Given the description of an element on the screen output the (x, y) to click on. 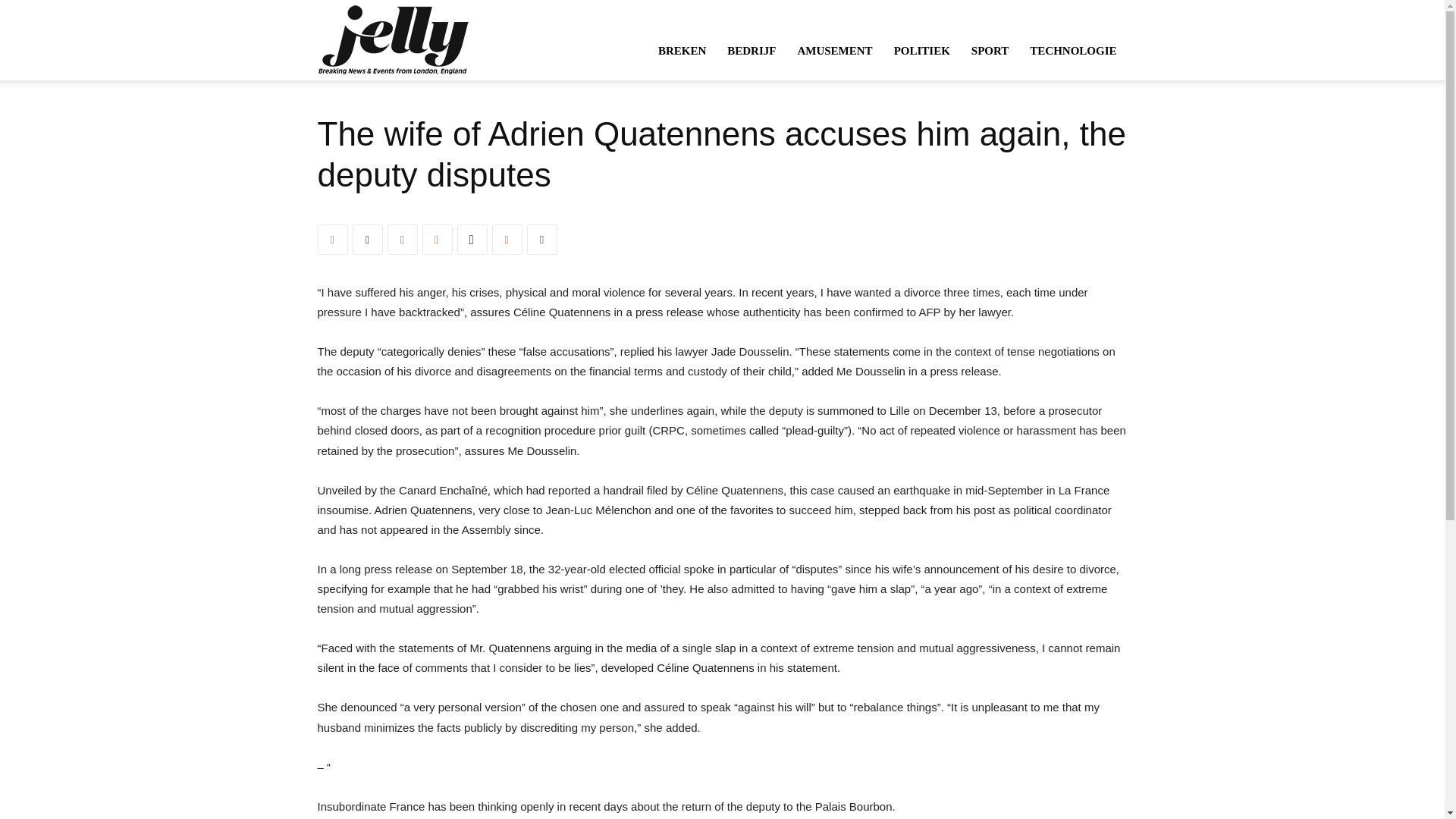
Mix (436, 239)
Digg (471, 239)
AMUSEMENT (834, 50)
Tumblr (401, 239)
Jelly Nieuws (392, 39)
Facebook (332, 239)
BEDRIJF (751, 50)
TECHNOLOGIE (1072, 50)
Afdrukken (540, 239)
BREKEN (681, 50)
POLITIEK (921, 50)
SPORT (989, 50)
Twitter (366, 239)
ReddIt (506, 239)
